Given the description of an element on the screen output the (x, y) to click on. 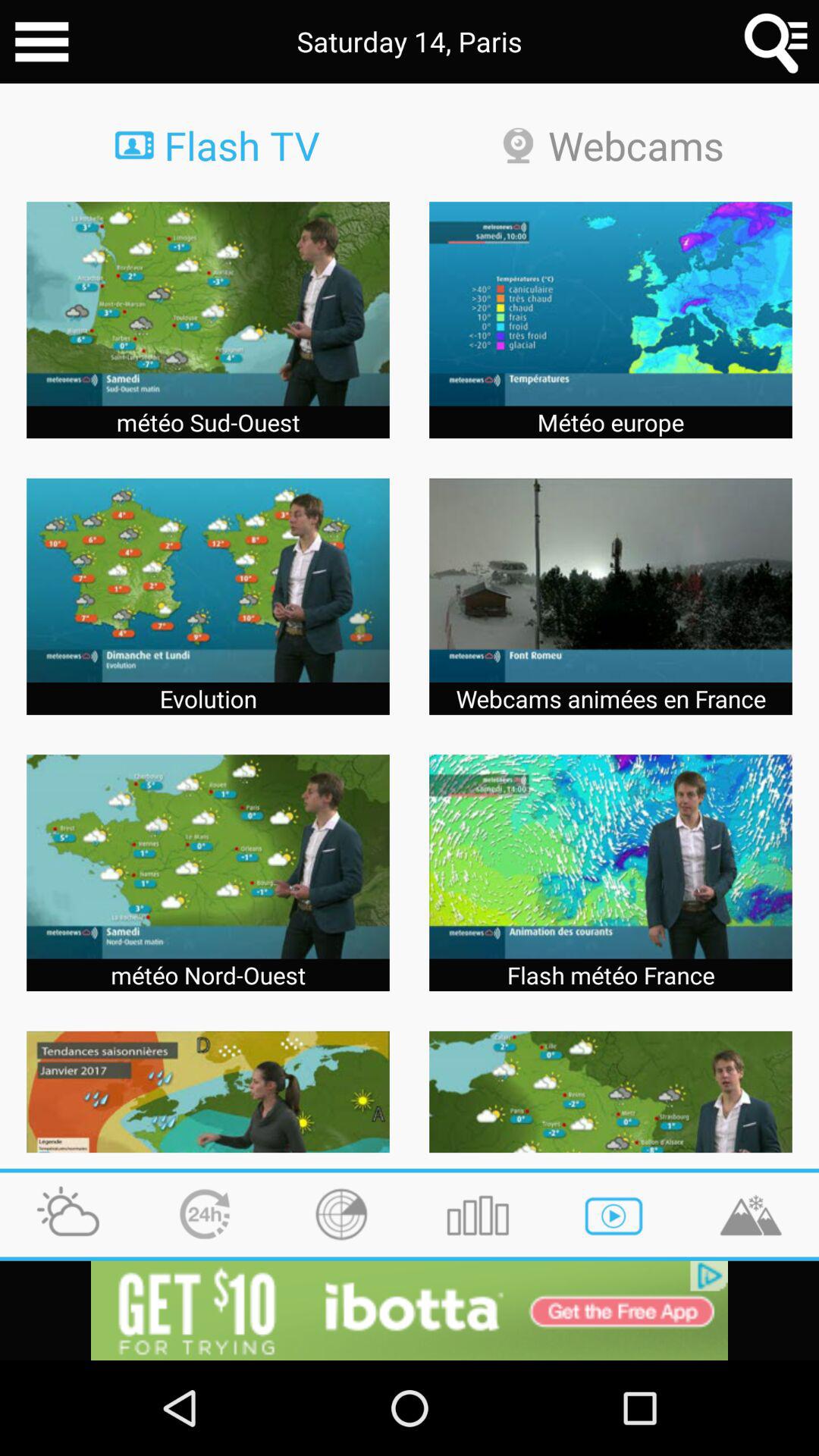
search icon (777, 41)
